Given the description of an element on the screen output the (x, y) to click on. 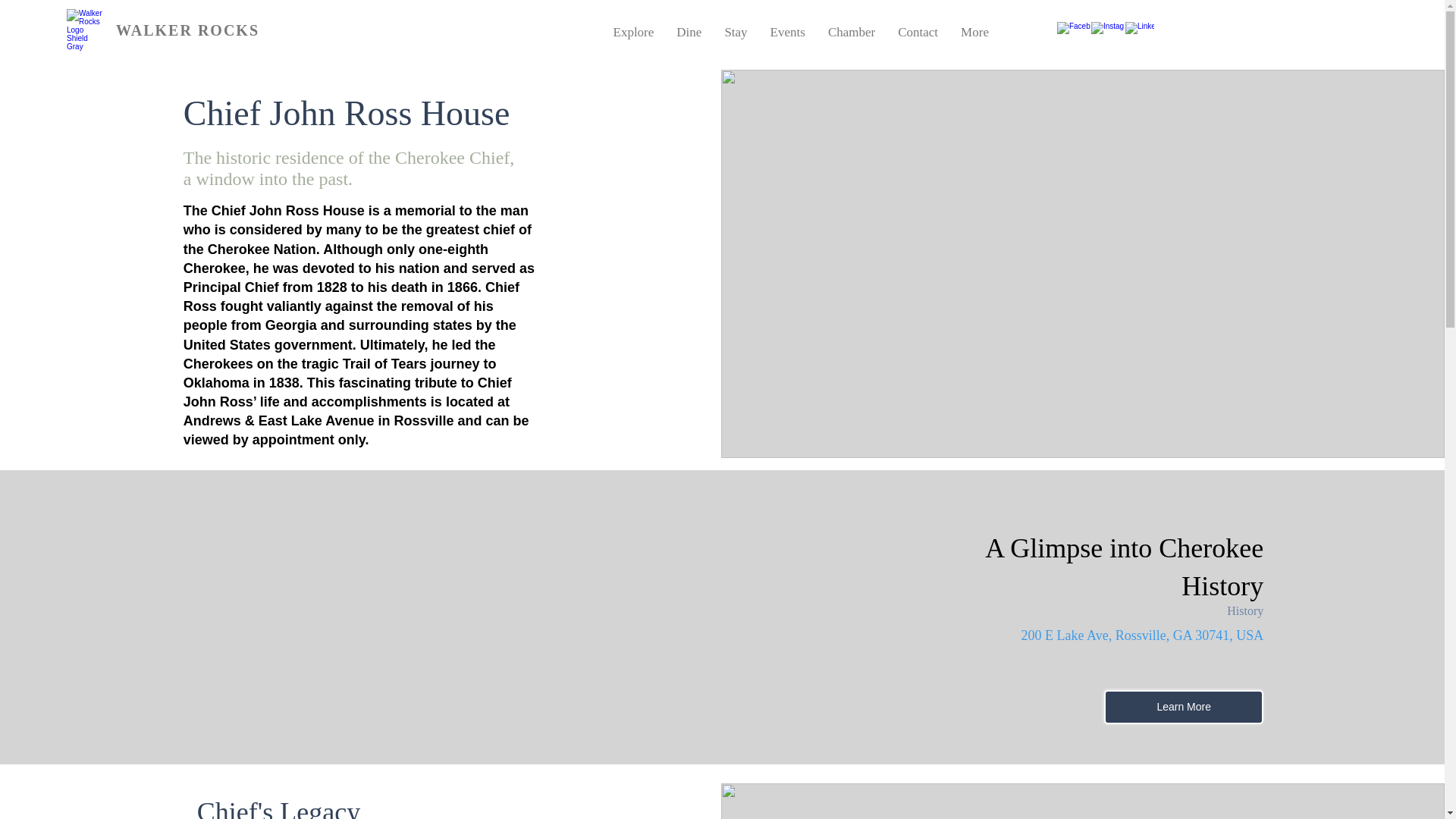
Explore (633, 32)
Contact (917, 32)
Dine (689, 32)
Chamber (851, 32)
Stay (735, 32)
Events (787, 32)
Learn More (1183, 706)
WALKER ROCKS (187, 30)
